Given the description of an element on the screen output the (x, y) to click on. 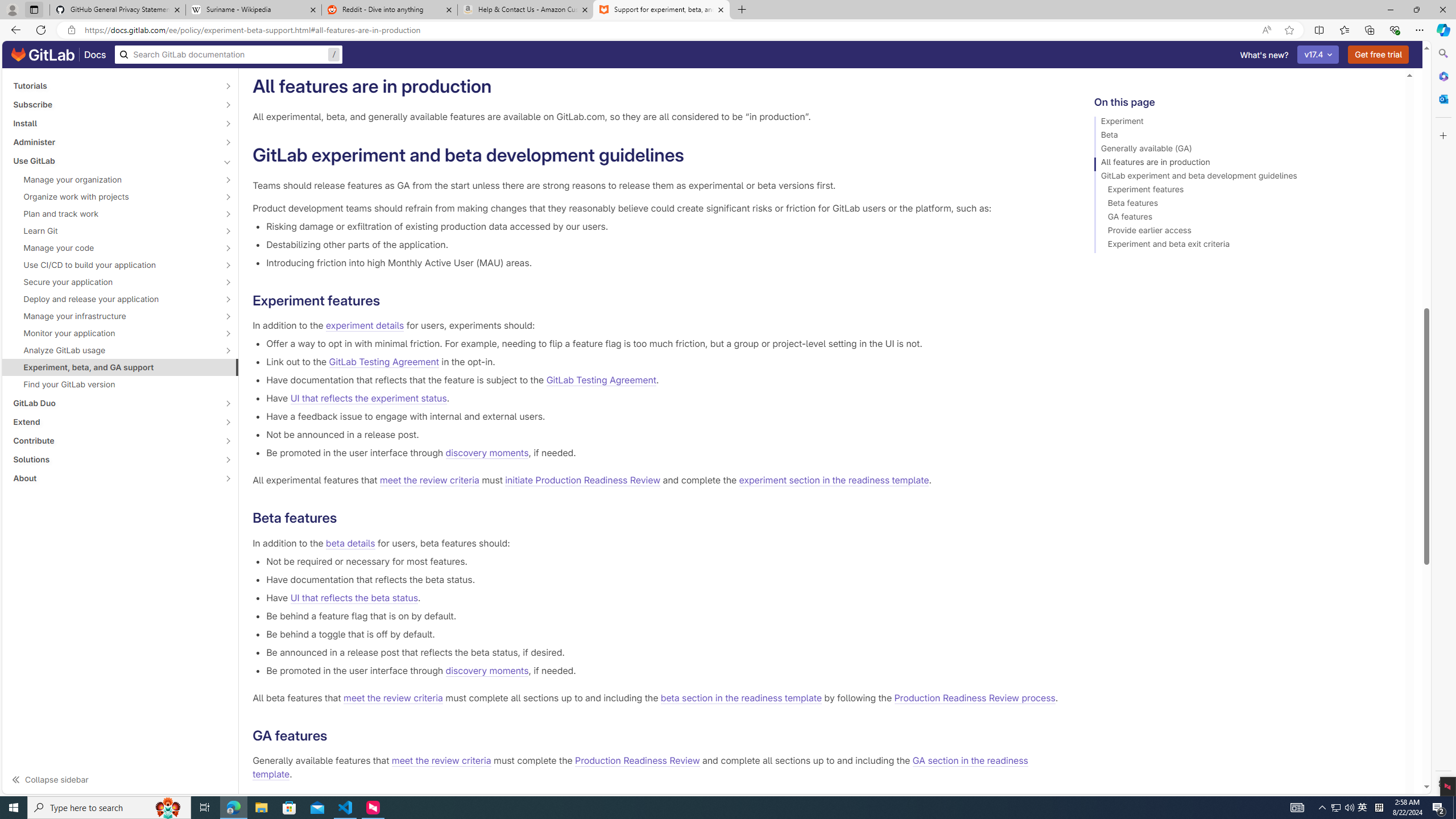
UI that reflects the experiment status (367, 398)
Get free trial (1378, 54)
Suriname - Wikipedia (253, 9)
Organize work with projects (113, 196)
Generally available (GA) (1244, 150)
experiment details (365, 325)
All features are in production (1244, 164)
GitLab experiment and beta development guidelines (1244, 177)
GitLab documentation home Docs (58, 53)
What's new? (1263, 54)
Learn Git (113, 230)
